Given the description of an element on the screen output the (x, y) to click on. 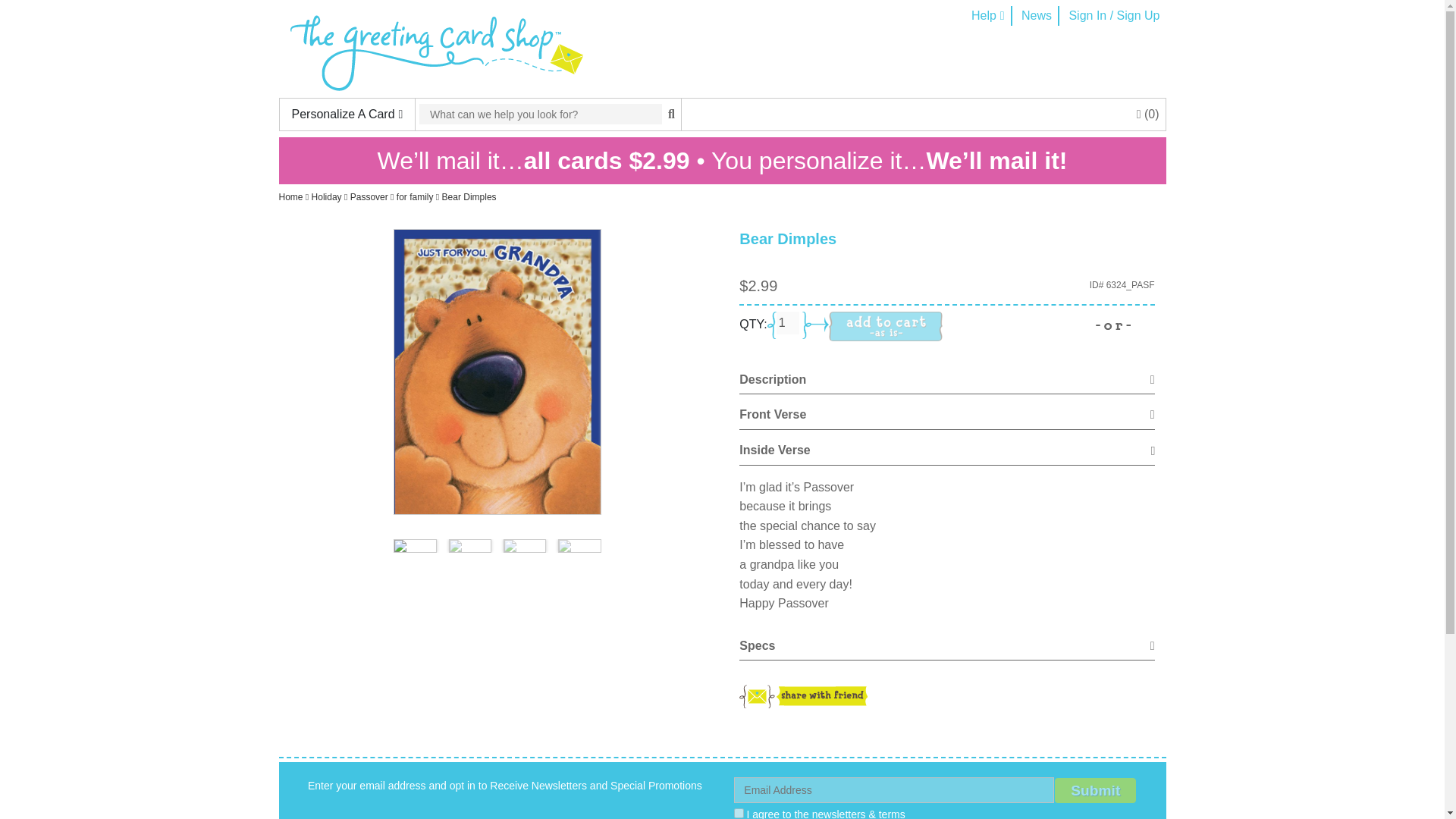
Search (540, 114)
Cart (1147, 113)
Help (987, 15)
News (1036, 15)
1 (787, 323)
1 (738, 813)
Submit (1095, 790)
Personalize A Card (346, 114)
